Given the description of an element on the screen output the (x, y) to click on. 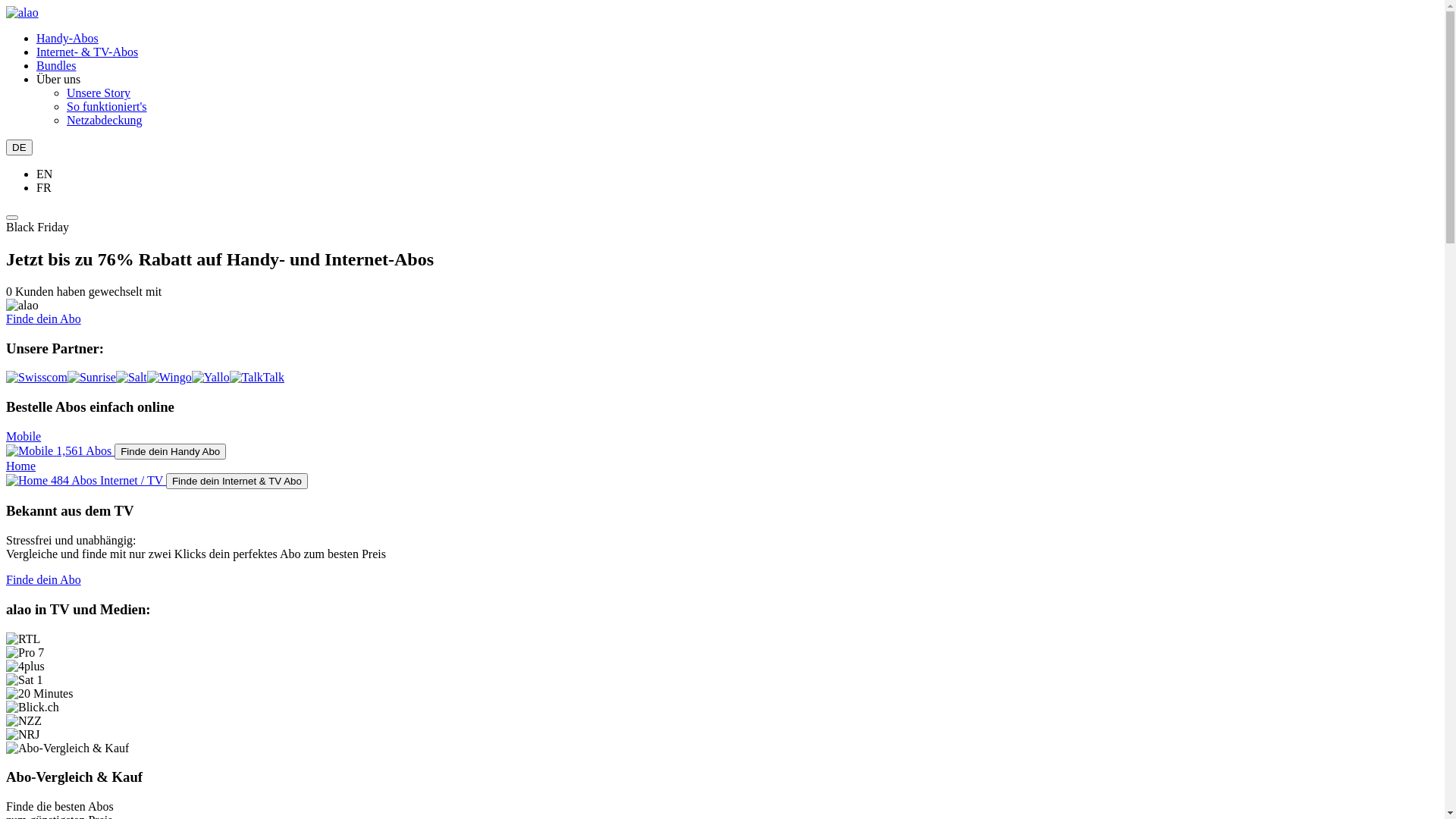
Internet- & TV-Abos Element type: text (87, 51)
EN Element type: text (44, 173)
So funktioniert's Element type: text (106, 106)
DE Element type: text (19, 147)
Finde dein Handy Abo Element type: text (169, 451)
Home
484 Abos Internet / TV Finde dein Internet & TV Abo Element type: text (722, 474)
Netzabdeckung Element type: text (104, 119)
Finde dein Internet & TV Abo Element type: text (236, 481)
Bundles Element type: text (55, 65)
Finde dein Abo Element type: text (43, 318)
Mobile
1,561 Abos Finde dein Handy Abo Element type: text (722, 444)
Handy-Abos Element type: text (67, 37)
Finde dein Abo Element type: text (43, 579)
FR Element type: text (43, 187)
Unsere Story Element type: text (98, 92)
